Given the description of an element on the screen output the (x, y) to click on. 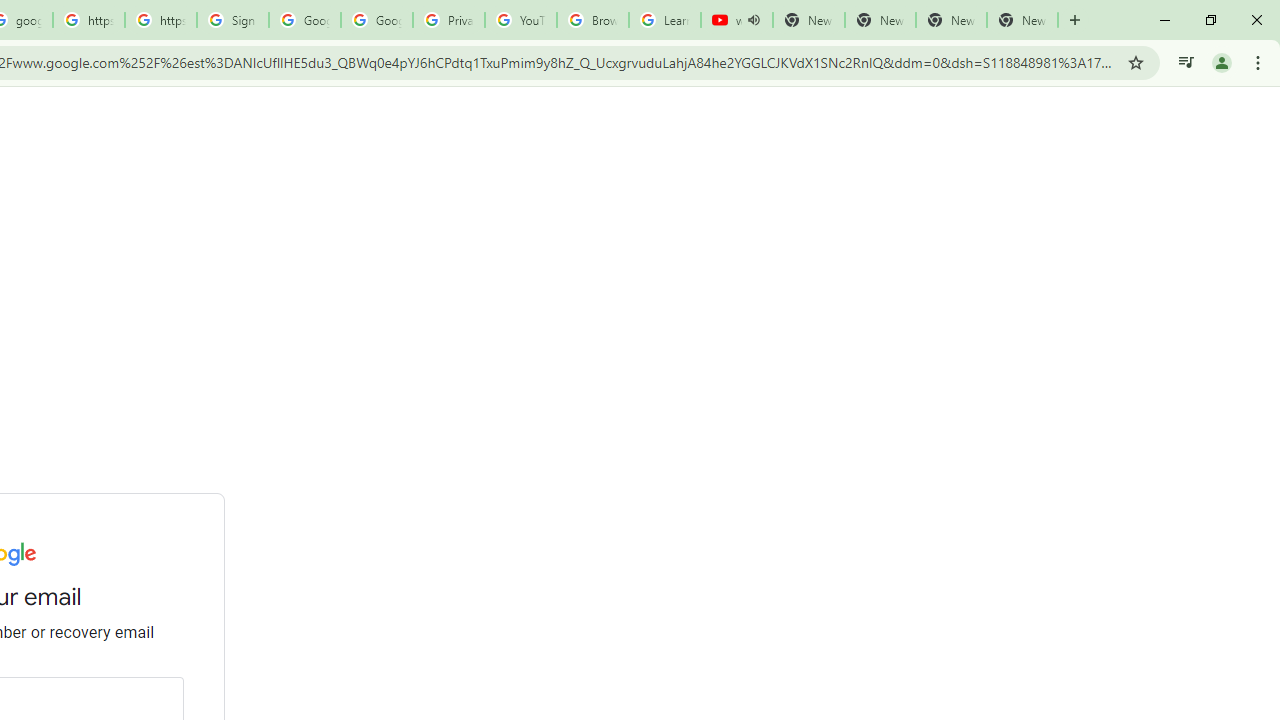
https://scholar.google.com/ (161, 20)
New Tab (1022, 20)
